Given the description of an element on the screen output the (x, y) to click on. 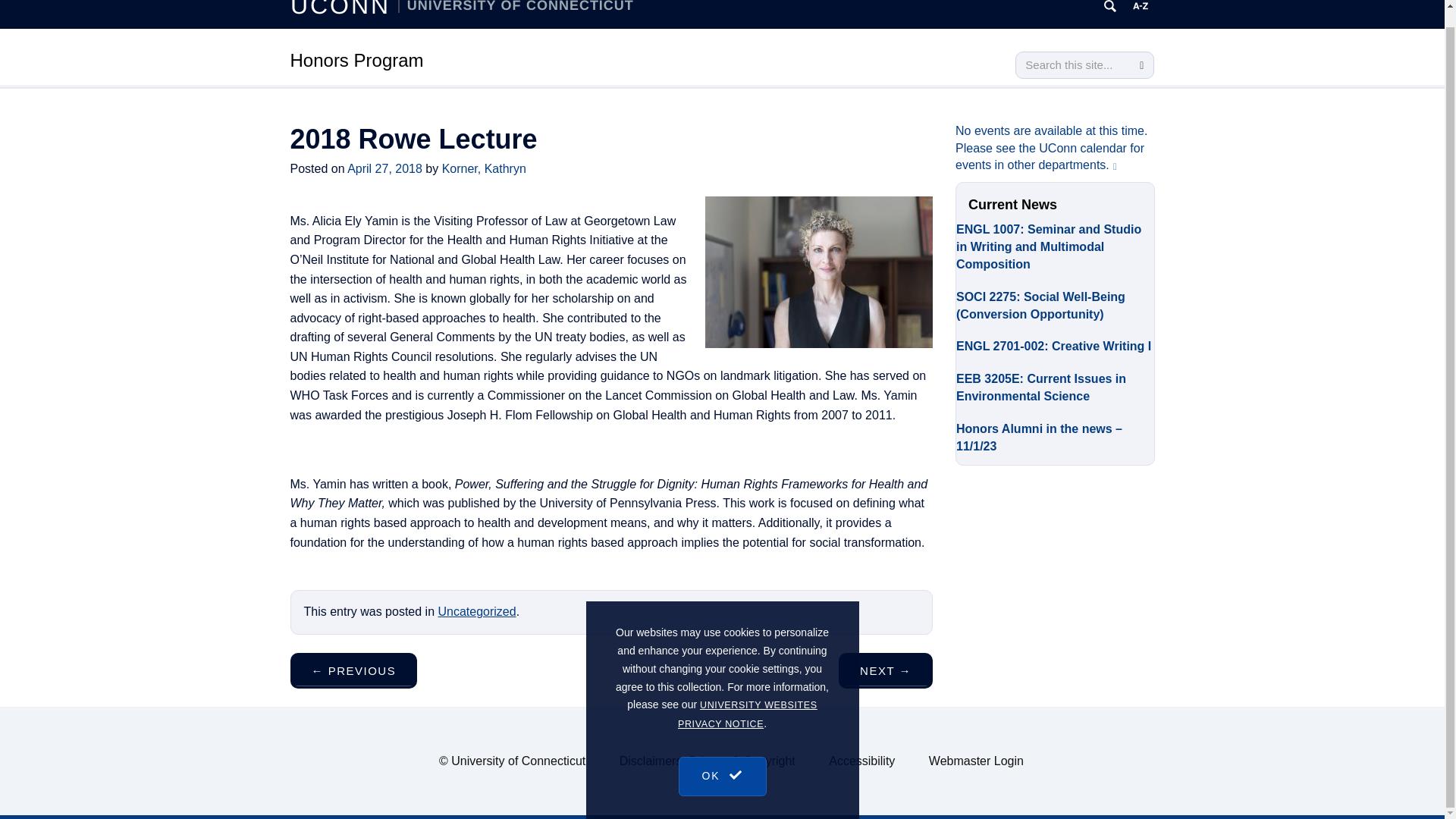
Search UConn (1109, 9)
UConn A to Z Index (1140, 9)
University of Connecticut (518, 759)
Uncategorized (476, 611)
Search this site...  (1072, 64)
EEB 3205E: Current Issues in Environmental Science (1055, 384)
April 27, 2018 (384, 168)
ENGL 2701-002: Creative Writing I (1055, 343)
Accessibility (861, 759)
Webmaster Login (975, 759)
UNIVERSITY OF CONNECTICUT (515, 5)
Search (1141, 64)
